Given the description of an element on the screen output the (x, y) to click on. 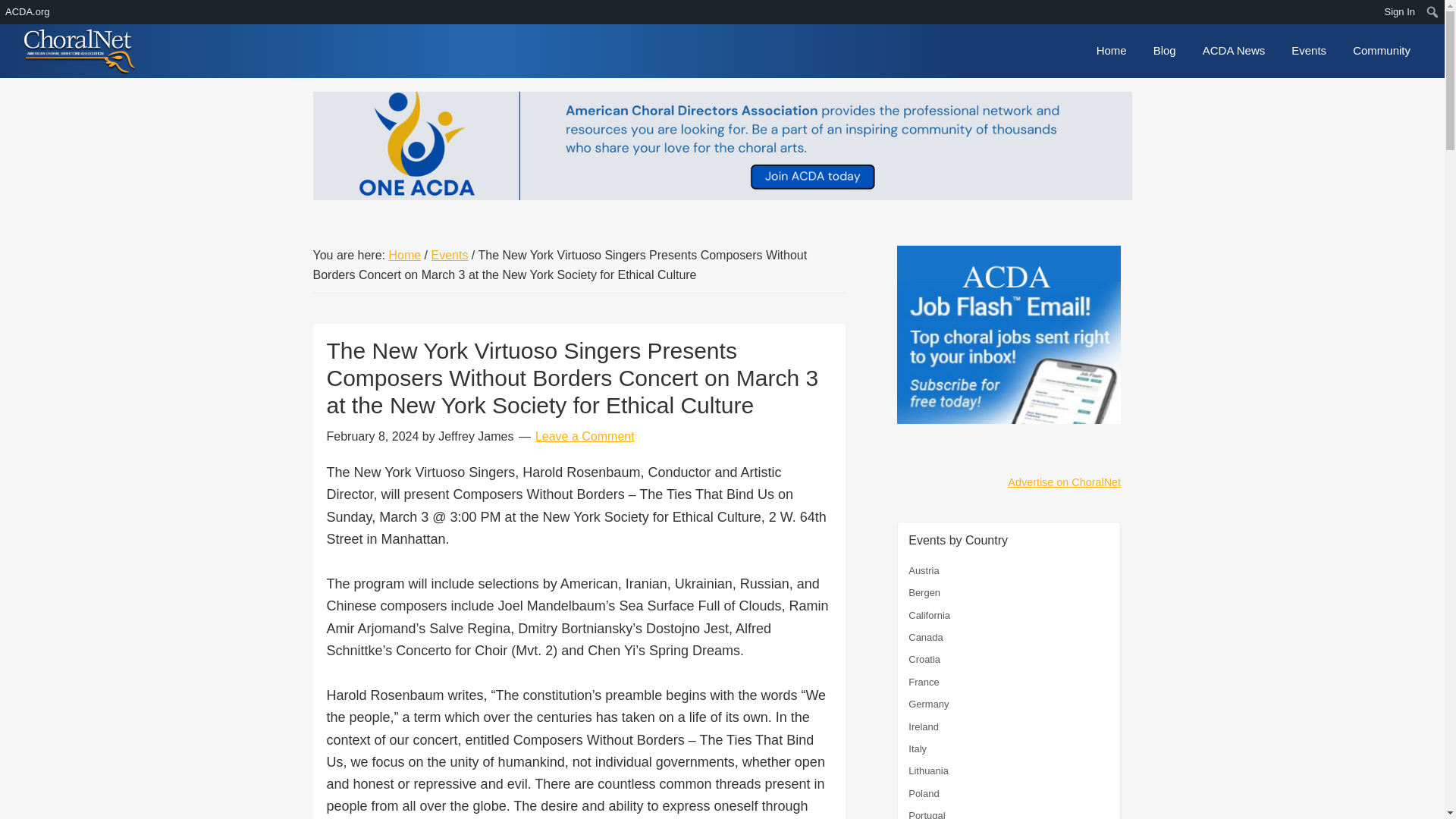
Poland (923, 793)
Advertise on ChoralNet (1064, 481)
Bergen (924, 592)
Blog (1164, 50)
Croatia (924, 659)
Home (1111, 50)
Search (15, 12)
ACDA.org (28, 12)
Portugal (926, 814)
Sign In (1399, 12)
